Given the description of an element on the screen output the (x, y) to click on. 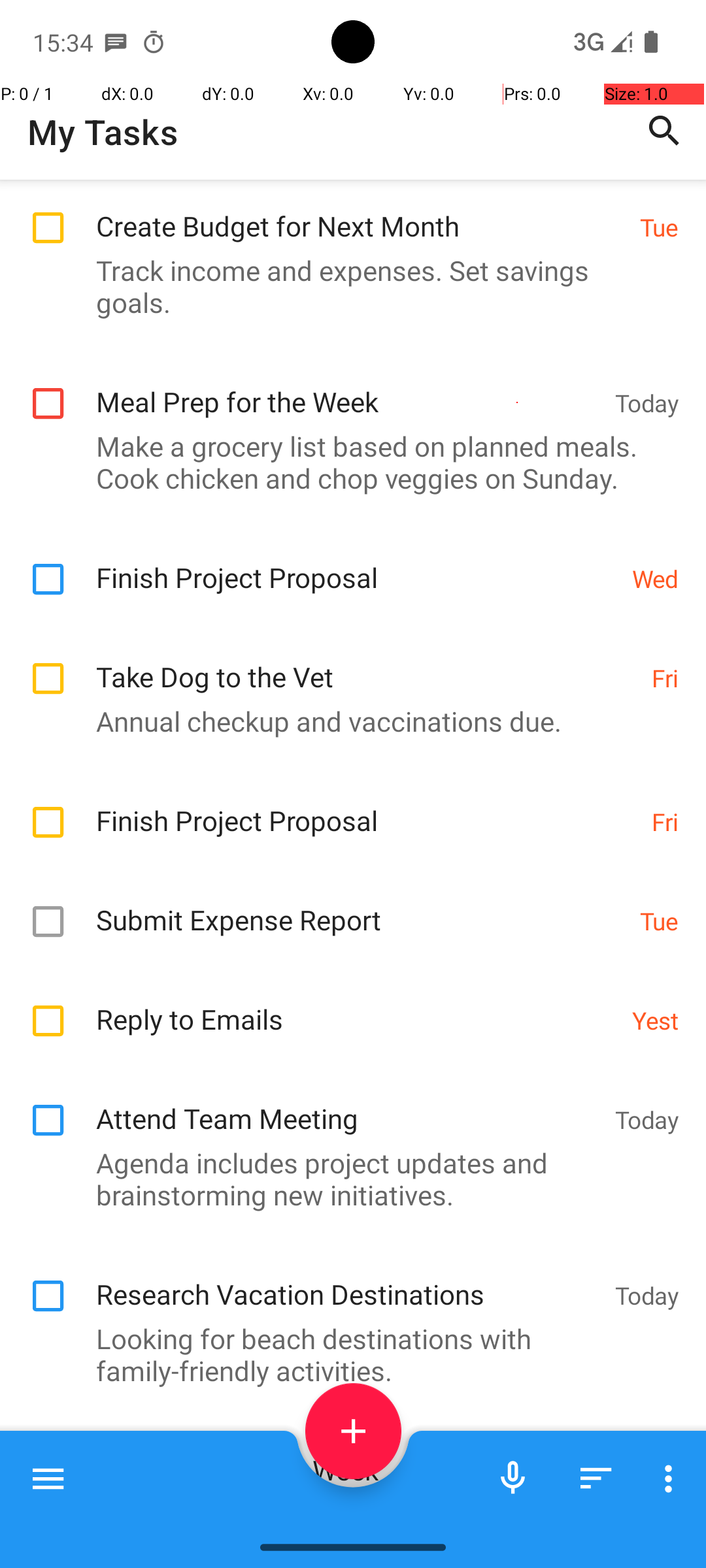
Make a grocery list based on planned meals. Cook chicken and chop veggies on Sunday. Element type: android.widget.TextView (346, 461)
